Given the description of an element on the screen output the (x, y) to click on. 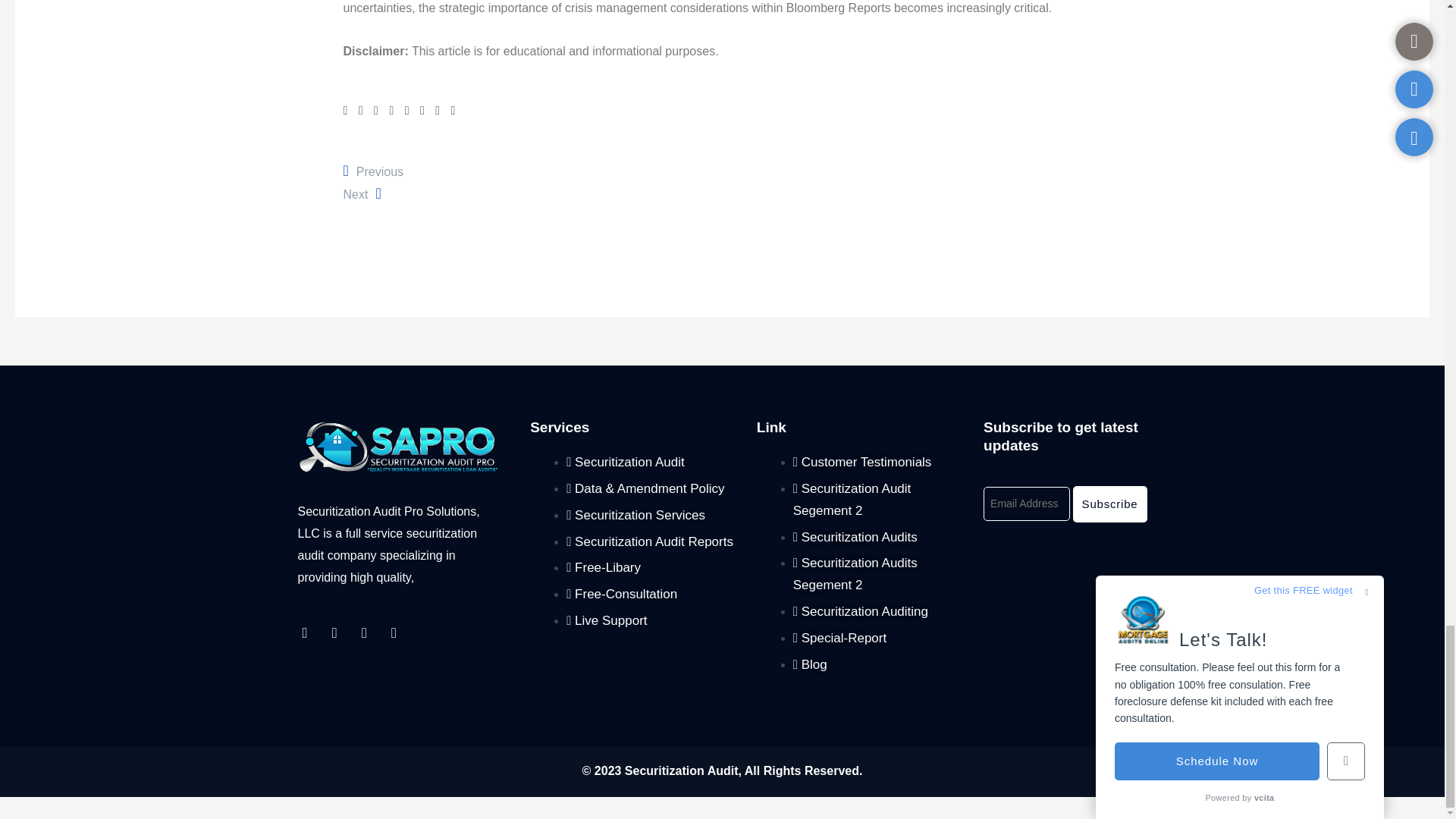
Securitization Audit Segement 2 (852, 499)
Blog (810, 664)
Special-Report (839, 637)
Linkedin (399, 638)
Free-Consultation (621, 594)
Securitization Audits (855, 536)
Securitization Services (635, 514)
Twitter (361, 194)
Live Support (340, 638)
Instagram (606, 620)
Customer Testimonials (372, 171)
Facebook (369, 638)
Securitization Auditing (862, 462)
